Given the description of an element on the screen output the (x, y) to click on. 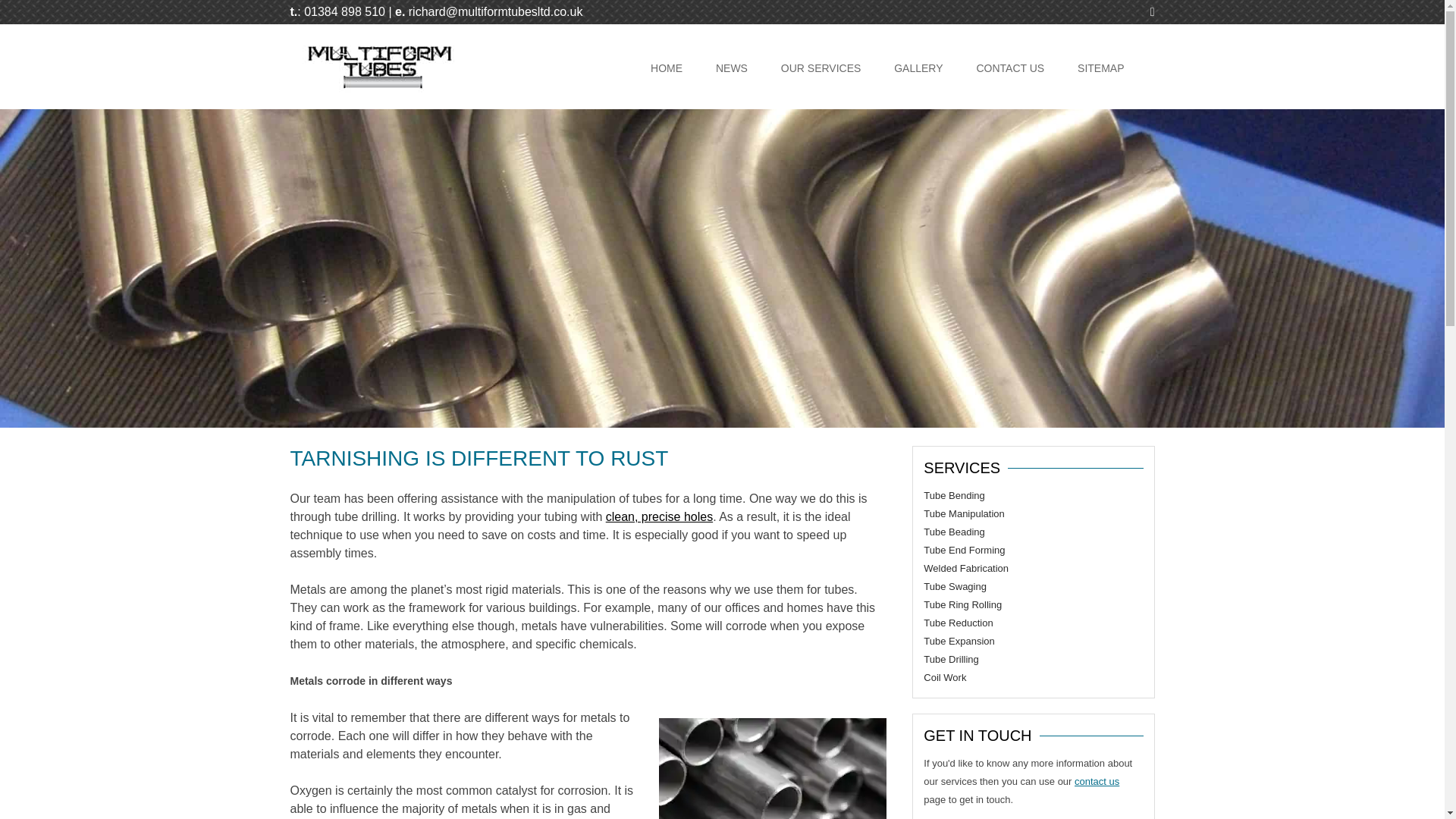
TUBE BENDING (856, 106)
Tube Bending (953, 495)
Tube Manipulation (963, 513)
Welded Fabrication (966, 568)
Multiform Tubes Engineering (378, 88)
Tube Swaging (955, 586)
Tube Beading (953, 531)
Tube Reduction (957, 622)
CONTACT US (1009, 68)
GALLERY (917, 68)
